Given the description of an element on the screen output the (x, y) to click on. 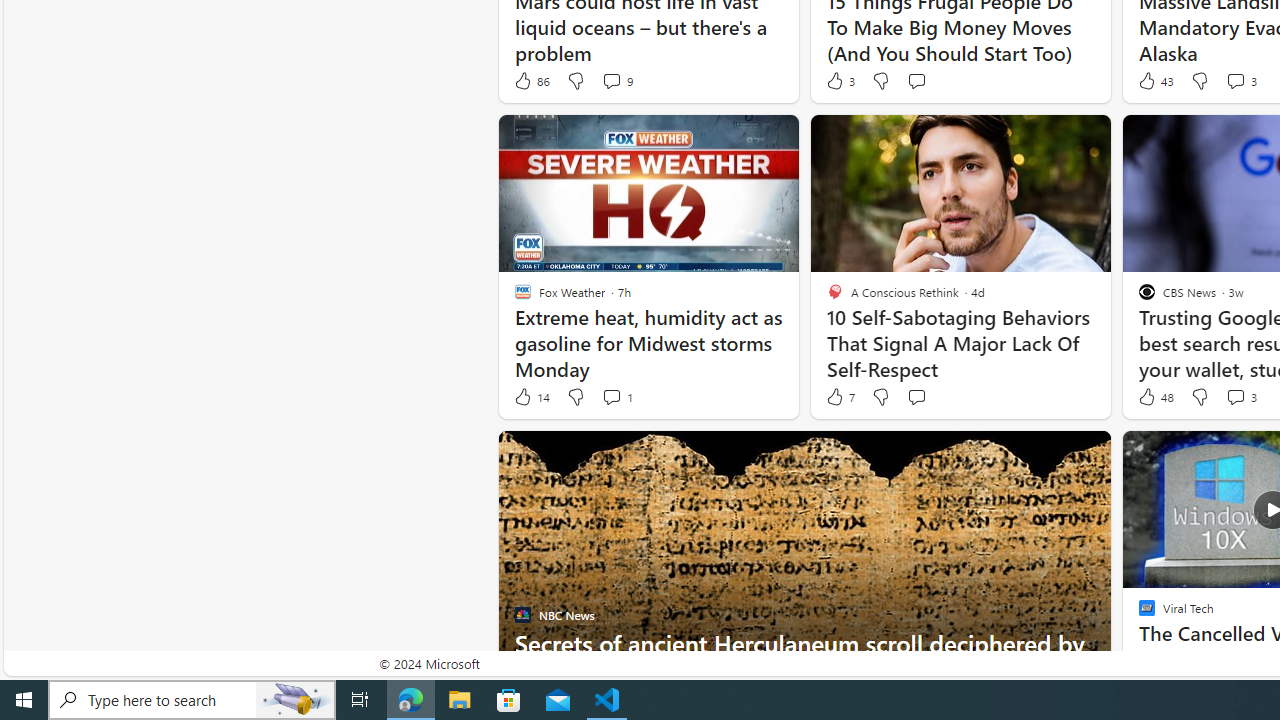
7 Like (839, 397)
View comments 9 Comment (611, 80)
